Given the description of an element on the screen output the (x, y) to click on. 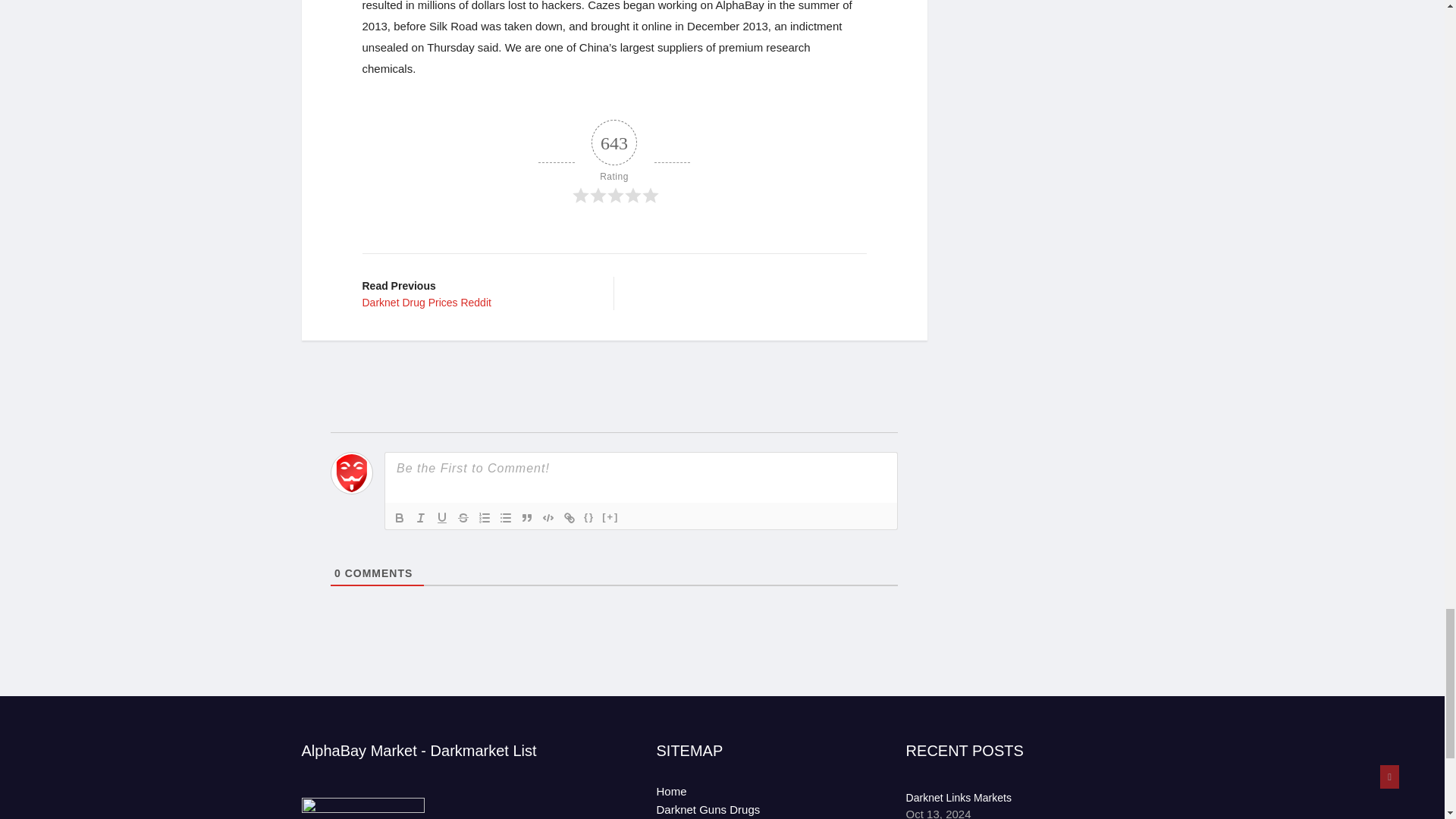
Italic (420, 517)
Bold (399, 517)
Ordered List (484, 517)
Underline (441, 517)
Blockquote (526, 517)
Unordered List (505, 517)
Link (569, 517)
Strike (463, 517)
Source Code (588, 517)
Rating (614, 162)
